Given the description of an element on the screen output the (x, y) to click on. 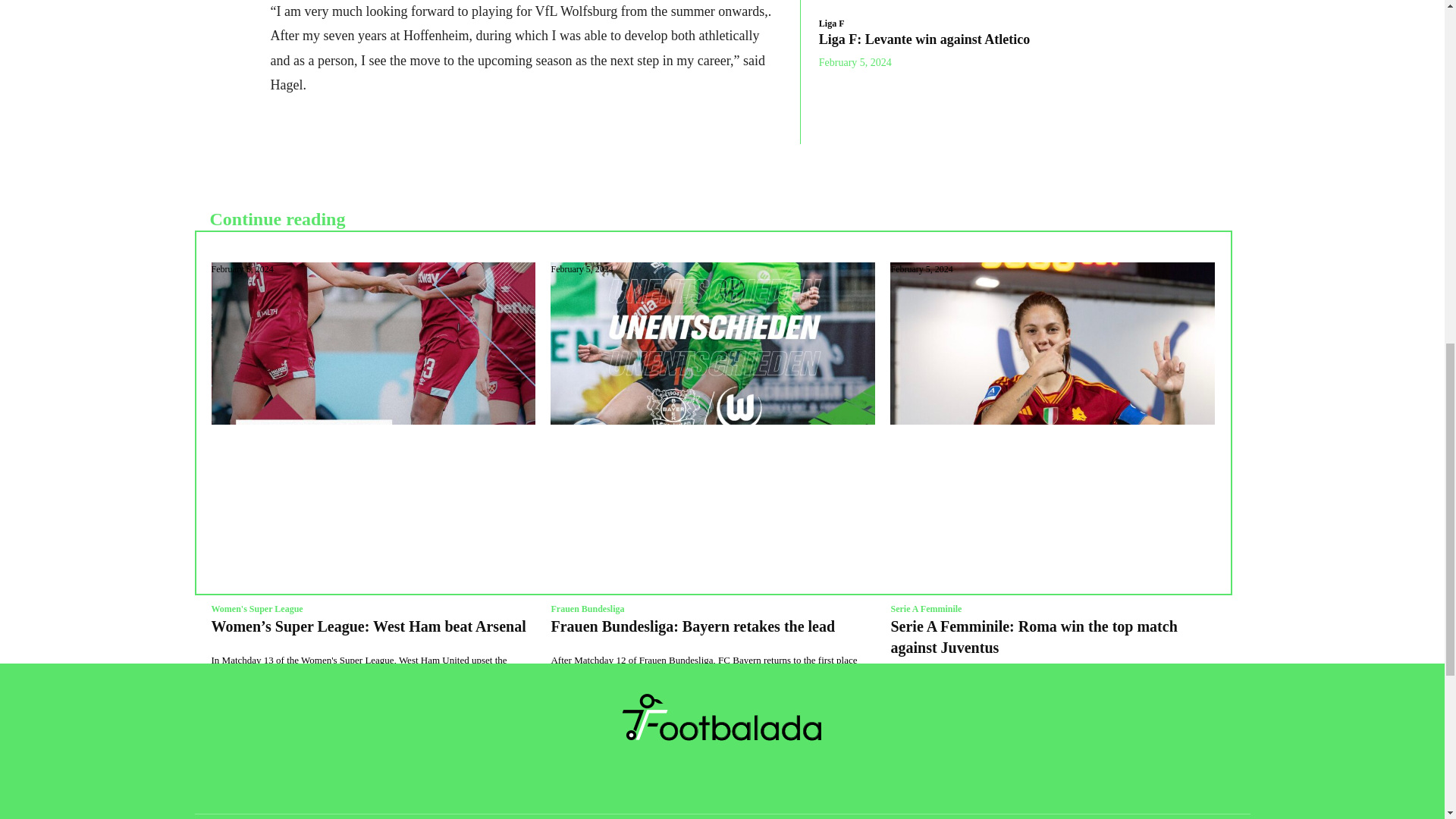
Women's Super League (256, 608)
Frauen Bundesliga (587, 608)
Liga F: Levante win against Atletico (923, 38)
Liga F: Levante win against Atletico (923, 38)
Liga F (831, 23)
Frauen Bundesliga: Bayern retakes the lead (712, 343)
